Given the description of an element on the screen output the (x, y) to click on. 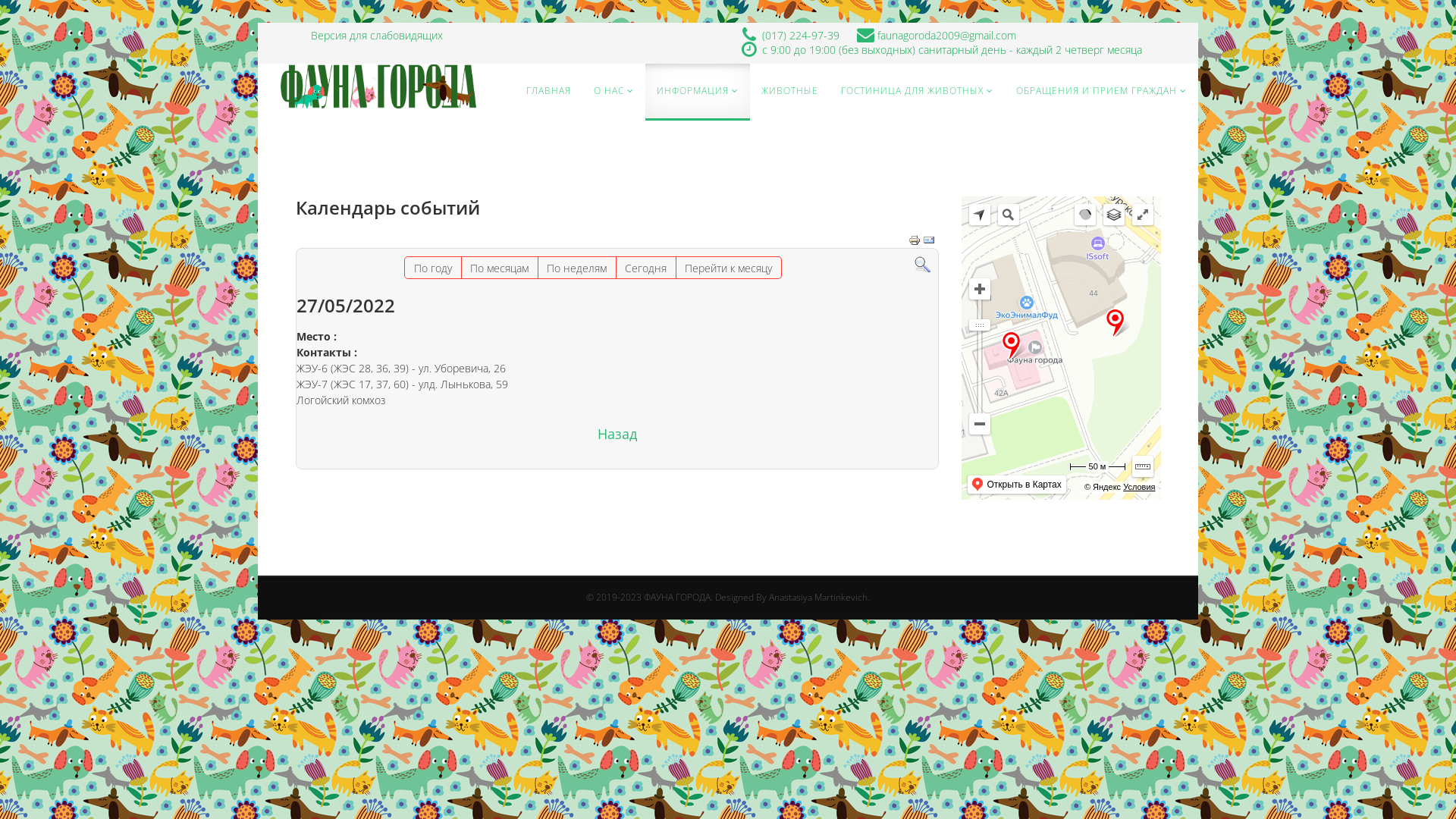
(017) 224-97-39 Element type: text (800, 35)
faunagoroda2009@gmail.com Element type: text (946, 35)
EMAIL Element type: hover (928, 239)
1 Element type: text (798, 375)
EMAIL Element type: hover (928, 240)
